Given the description of an element on the screen output the (x, y) to click on. 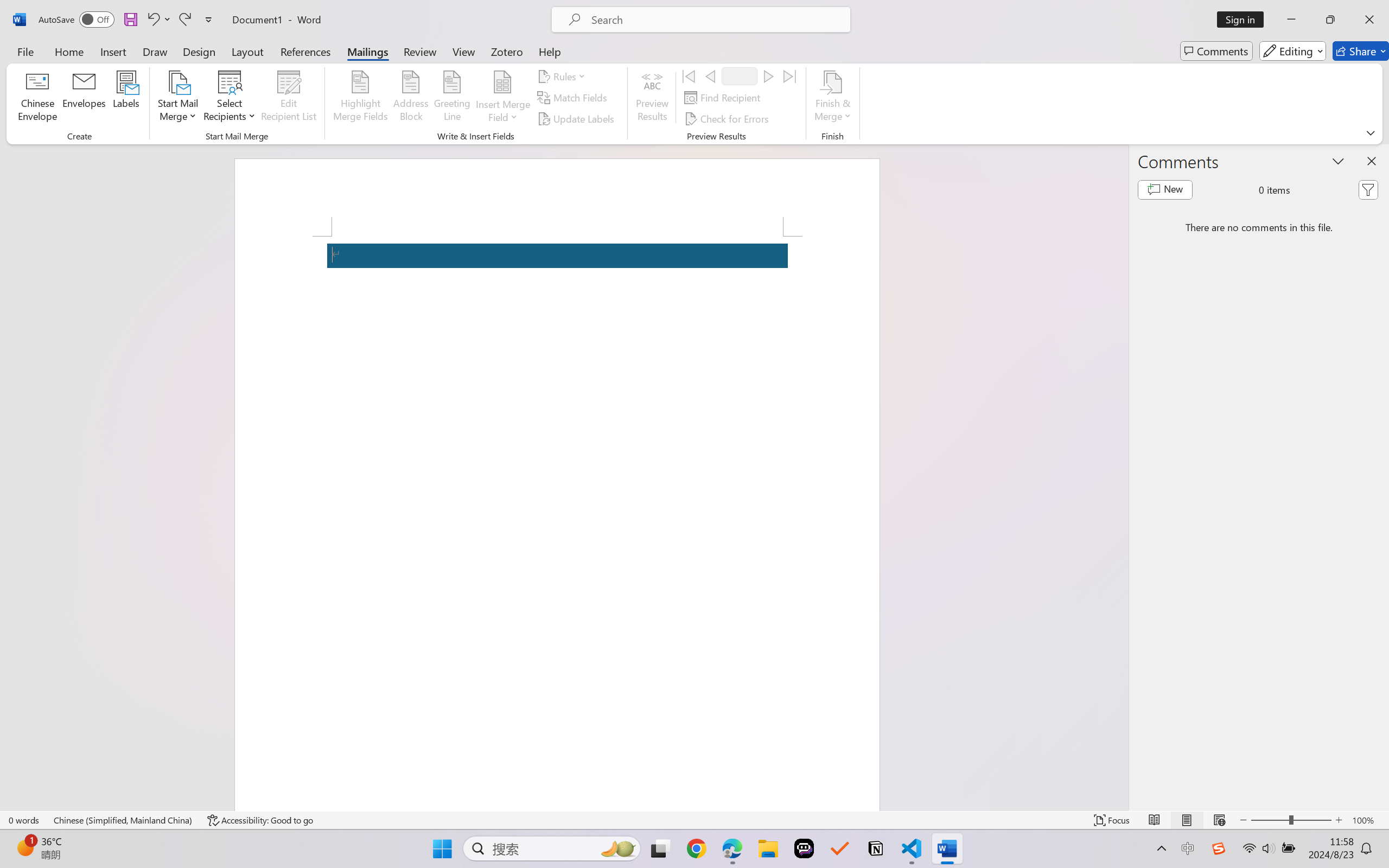
Match Fields... (573, 97)
Next (768, 75)
Preview Results (652, 97)
Undo Apply Quick Style Set (158, 19)
New comment (1165, 189)
Highlight Merge Fields (360, 97)
Insert Merge Field (502, 81)
